Given the description of an element on the screen output the (x, y) to click on. 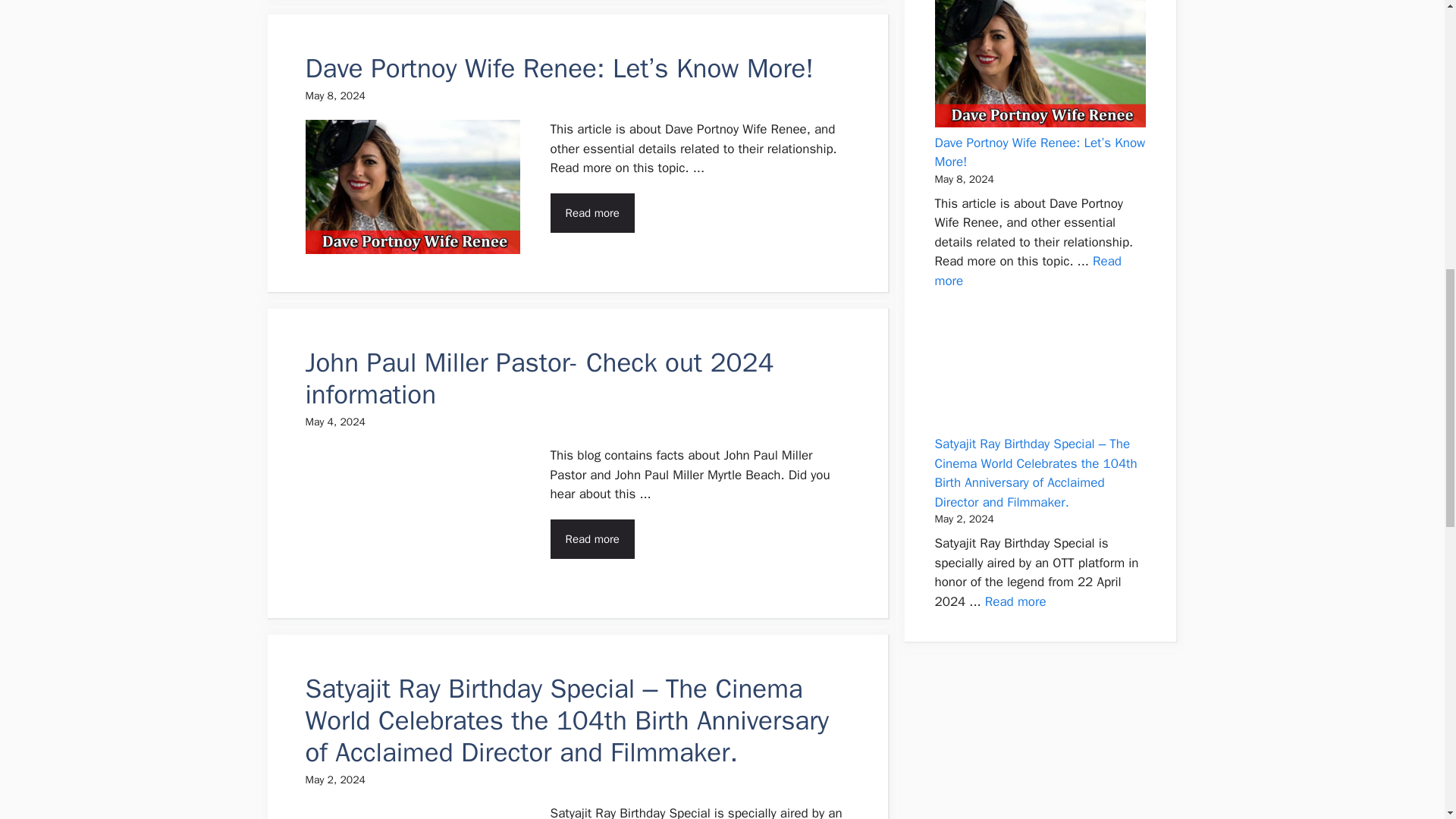
Read more (1015, 601)
Read more (592, 213)
Read more (1027, 271)
Read more (592, 539)
John Paul Miller Pastor- Check out 2024 information (538, 378)
